Given the description of an element on the screen output the (x, y) to click on. 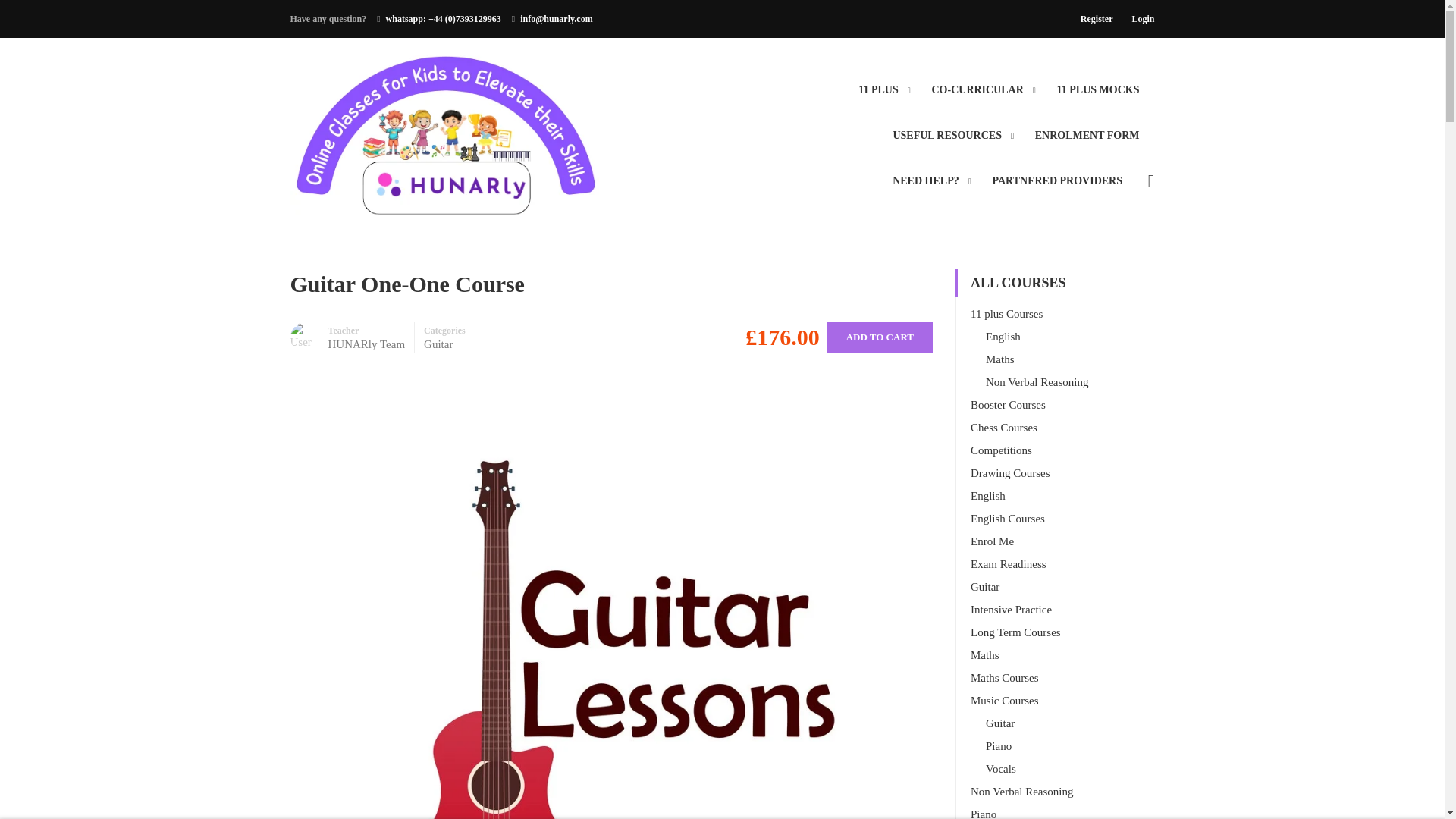
Login (1138, 18)
11 PLUS (878, 90)
CO-CURRICULAR (976, 90)
Register (1101, 18)
